Given the description of an element on the screen output the (x, y) to click on. 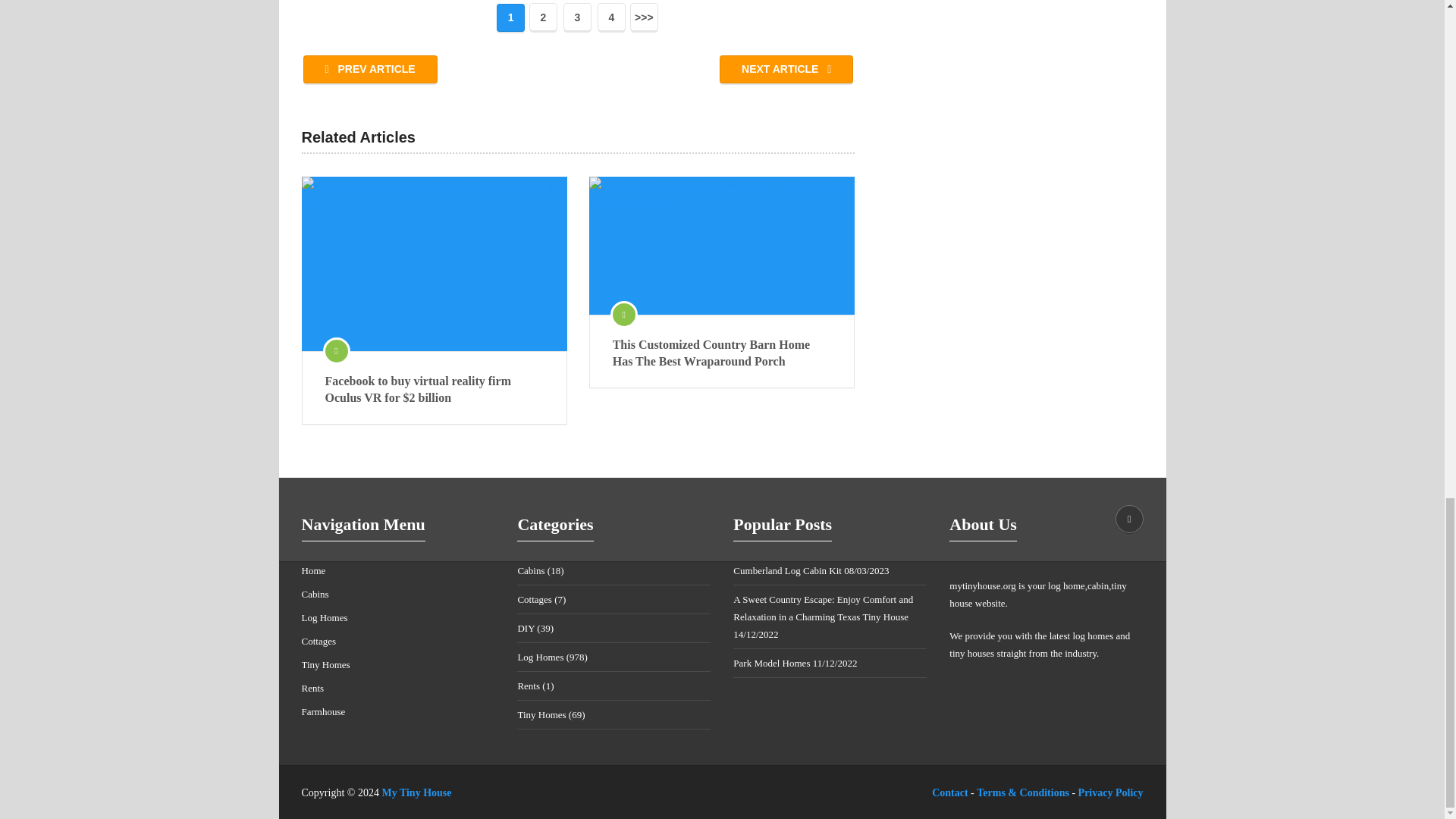
4 (611, 17)
Cottages (318, 641)
NEXT ARTICLE (786, 69)
Cabins (315, 593)
Home (313, 570)
3 (577, 17)
PREV ARTICLE (370, 69)
Rents (312, 687)
